Given the description of an element on the screen output the (x, y) to click on. 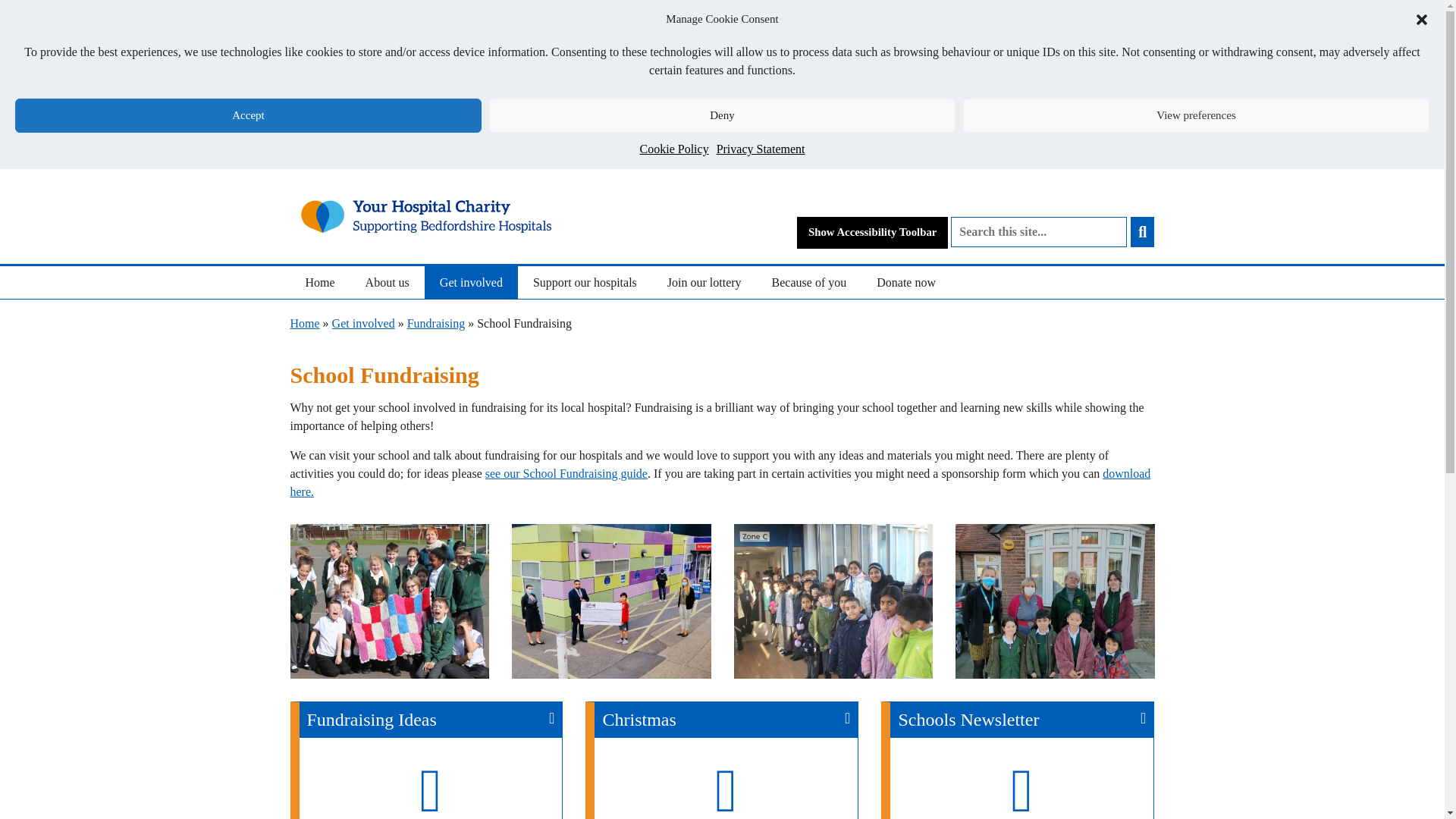
About us (387, 282)
Home (319, 282)
Get involved (471, 282)
Deny (722, 115)
Support our hospitals (585, 282)
search input (1038, 232)
View preferences (1195, 115)
Privacy Statement (760, 149)
download here. (719, 481)
Charity (425, 216)
Show Accessibility Toolbar (871, 232)
Accept (247, 115)
see our School Fundraising guide (565, 472)
Cookie Policy (674, 149)
